Given the description of an element on the screen output the (x, y) to click on. 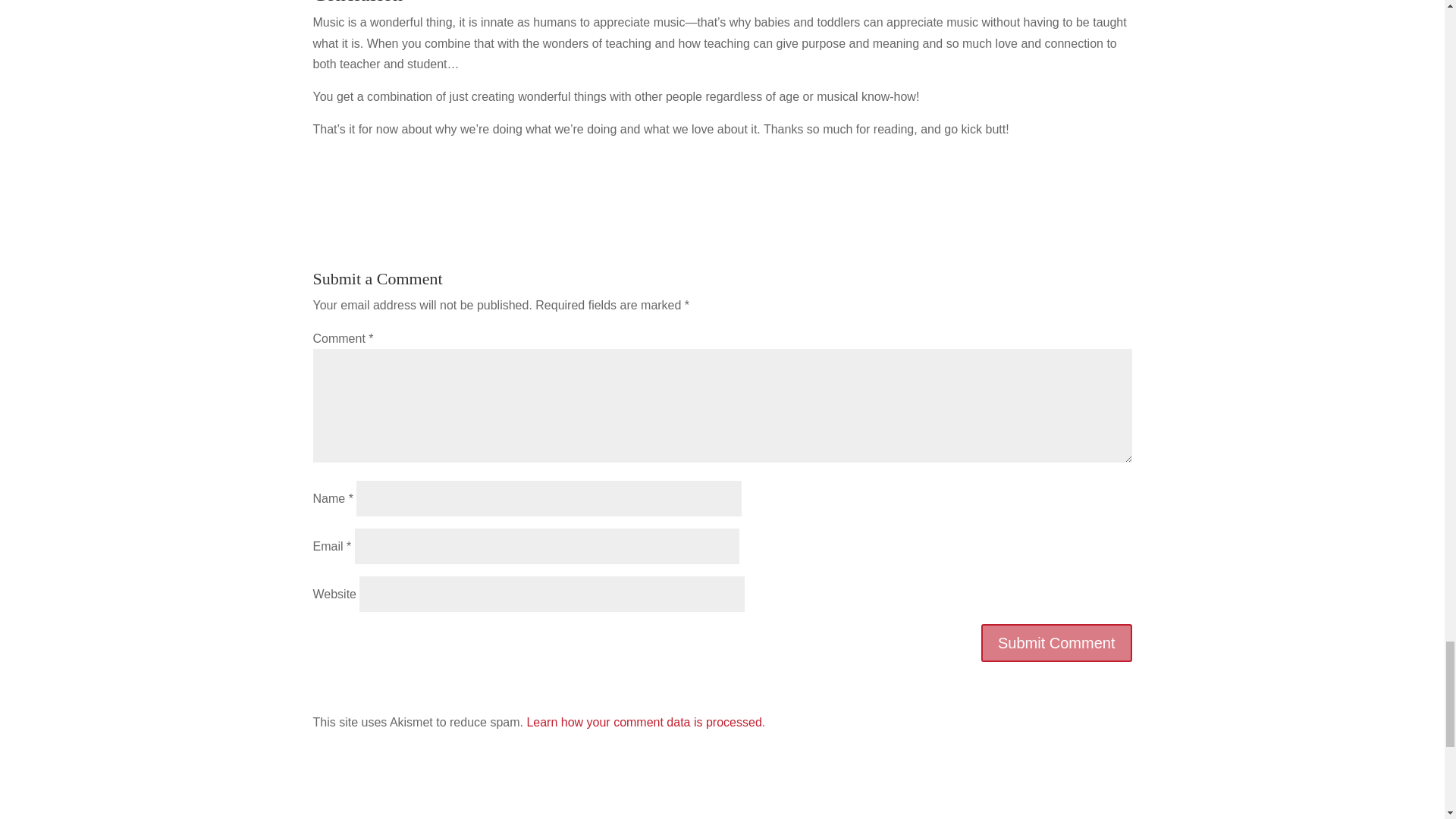
Learn how your comment data is processed (643, 721)
Submit Comment (1056, 642)
Submit Comment (1056, 642)
